Given the description of an element on the screen output the (x, y) to click on. 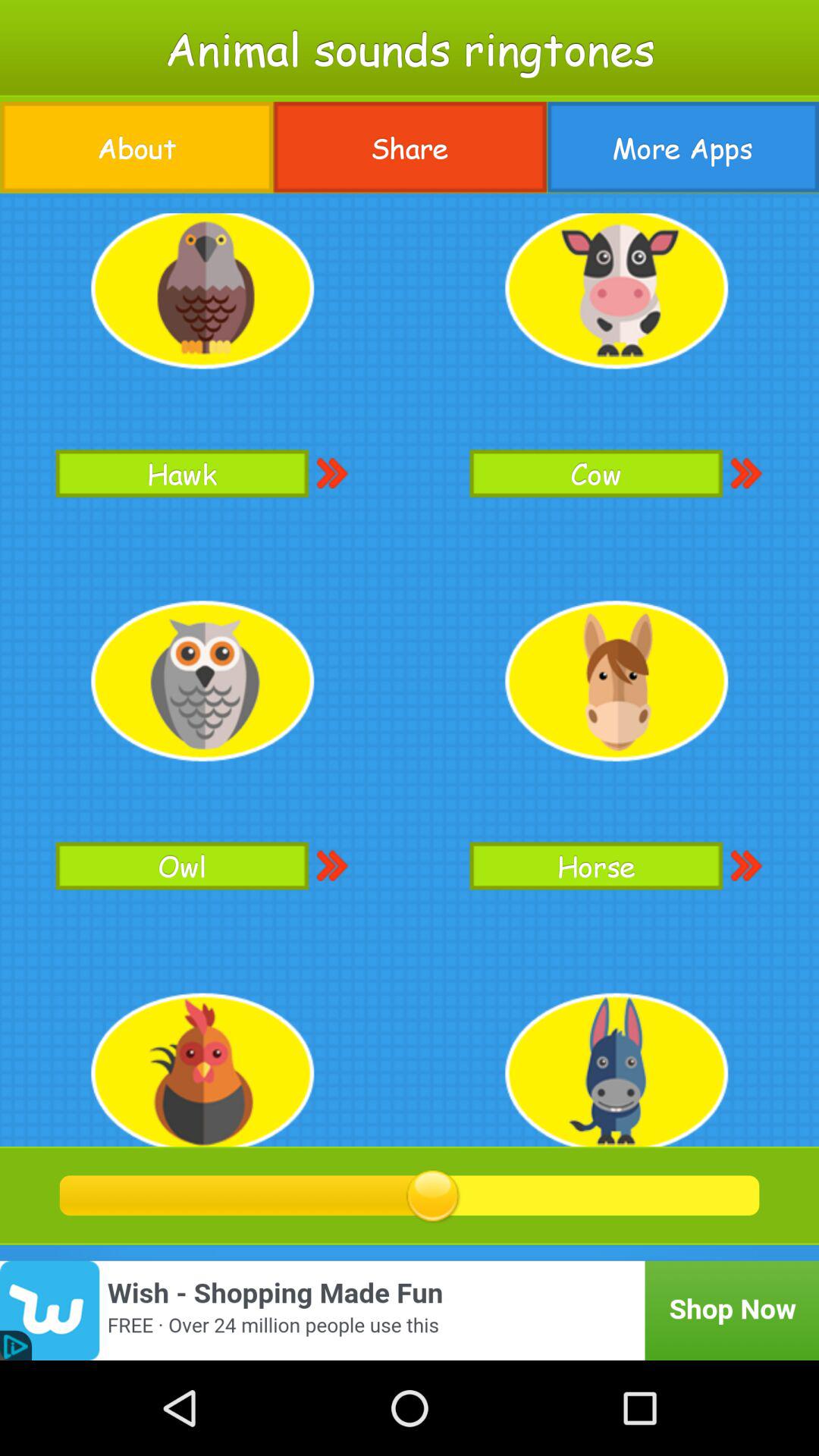
turn off the item next to the more apps (409, 147)
